Given the description of an element on the screen output the (x, y) to click on. 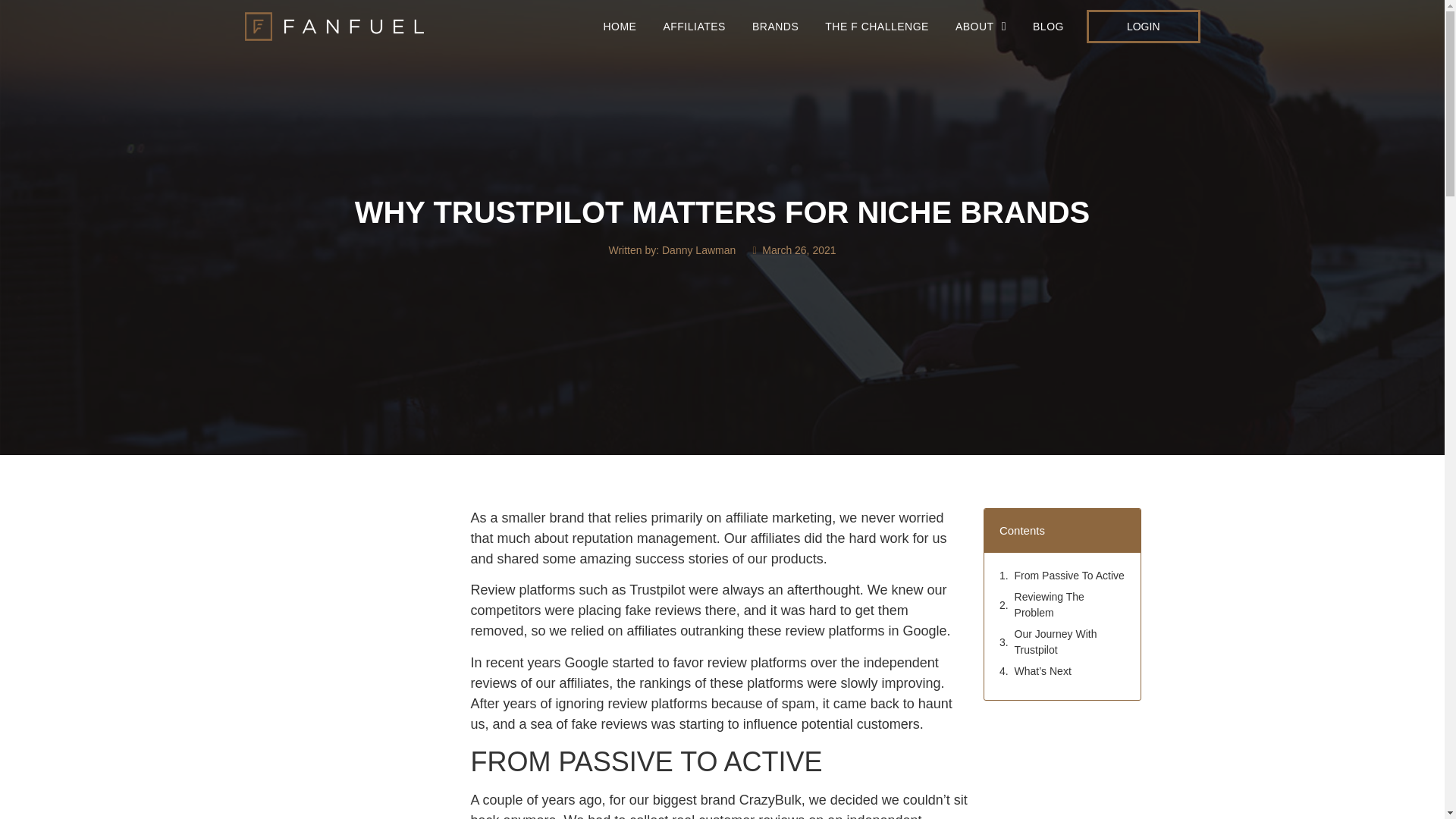
HOME (619, 26)
ABOUT (980, 26)
Reviewing The Problem (1073, 604)
BRANDS (775, 26)
BLOG (1048, 26)
March 26, 2021 (791, 250)
LOGIN (1142, 26)
AFFILIATES (694, 26)
THE F CHALLENGE (876, 26)
Our Journey With Trustpilot (1073, 642)
From Passive To Active (1074, 575)
Written by: Danny Lawman (671, 250)
